Given the description of an element on the screen output the (x, y) to click on. 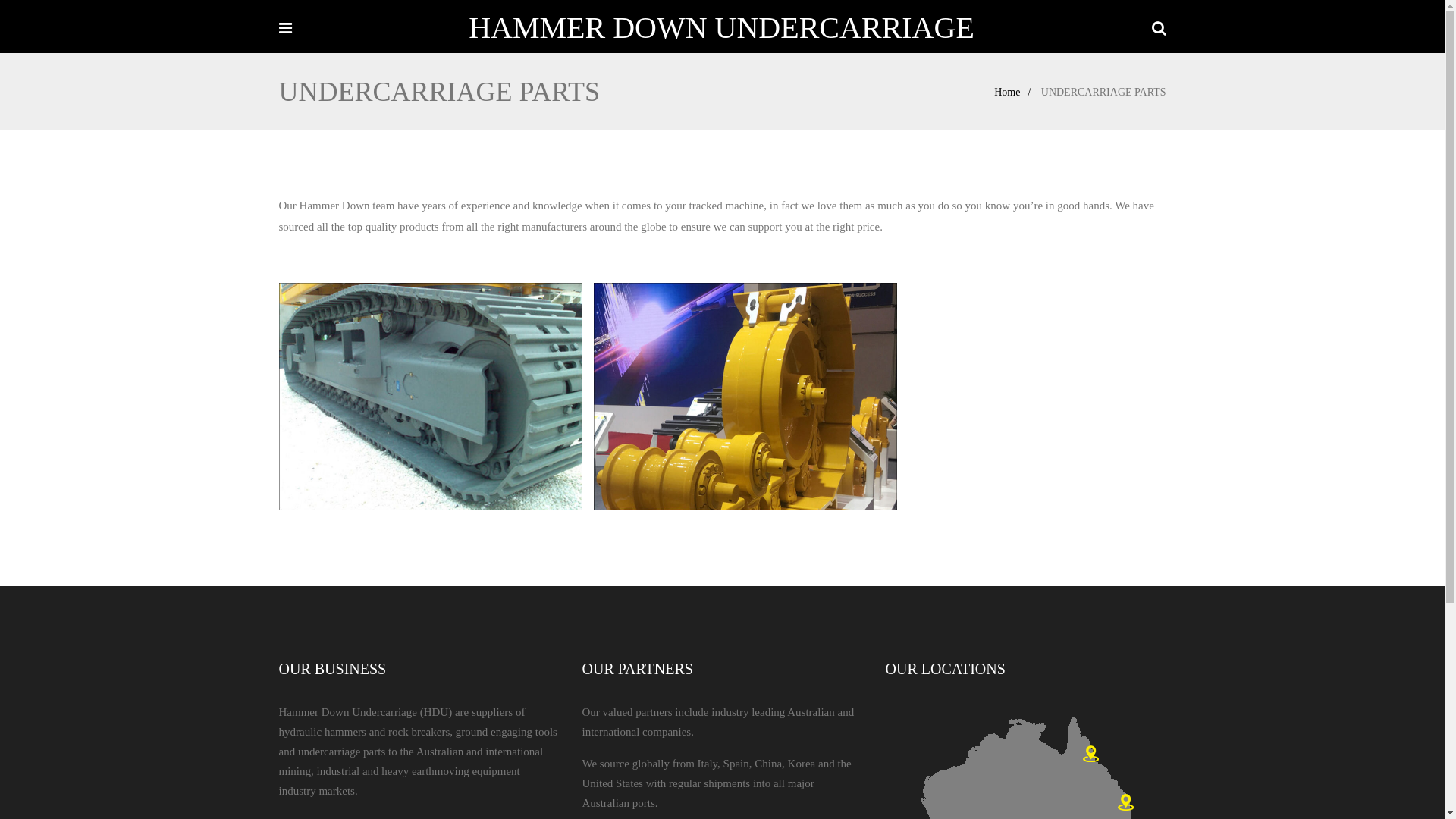
HAMMER DOWN UNDERCARRIAGE Element type: text (721, 27)
Home Element type: text (1016, 91)
